Given the description of an element on the screen output the (x, y) to click on. 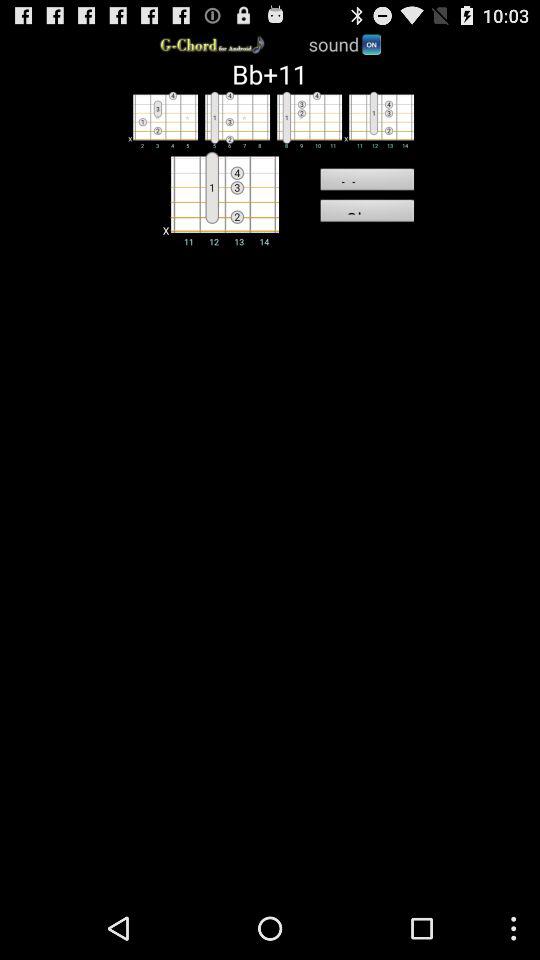
change the chord you wish to view (378, 119)
